Given the description of an element on the screen output the (x, y) to click on. 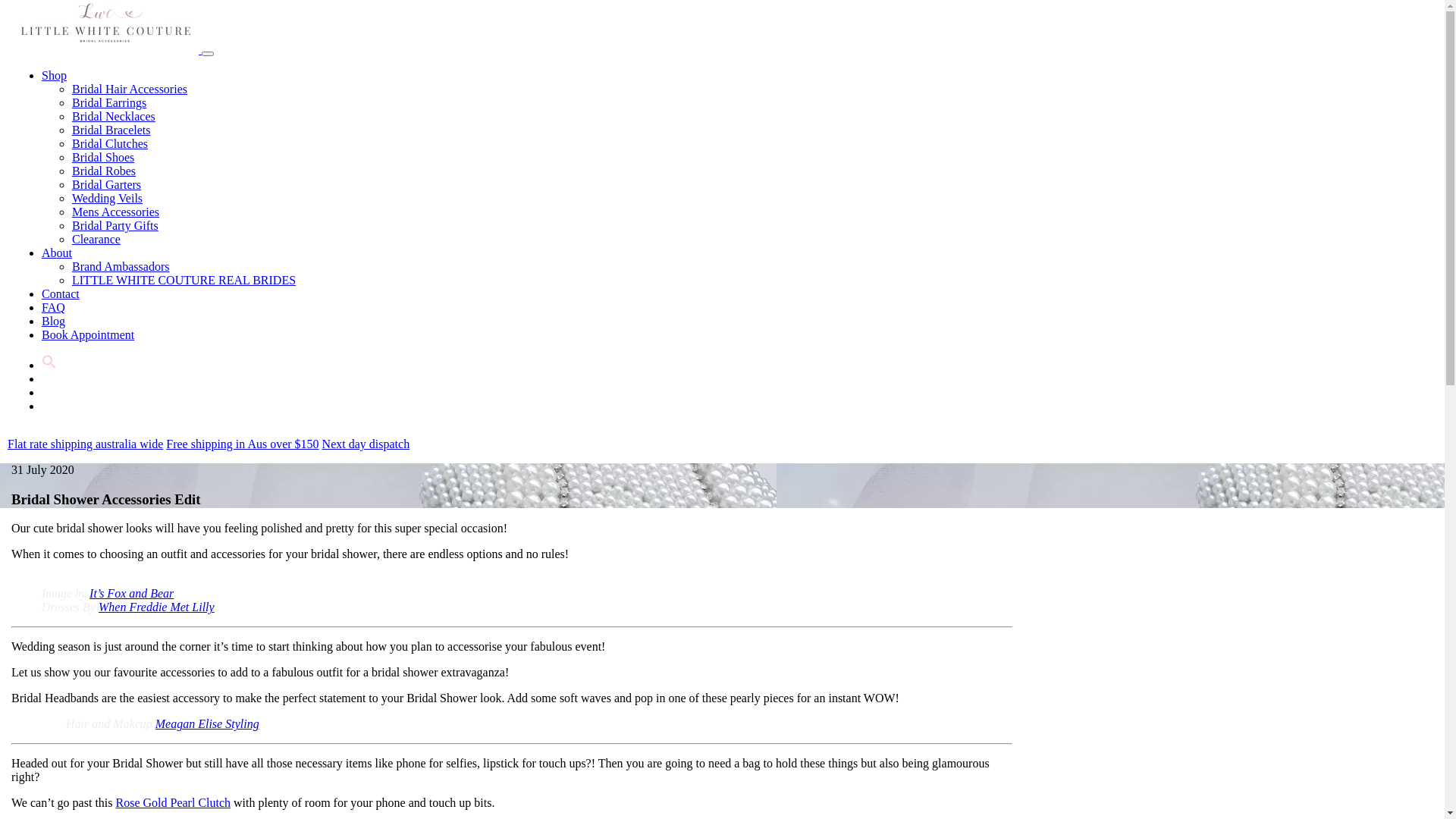
Bridal Robes Element type: text (103, 170)
FAQ Element type: text (53, 307)
Bridal Garters Element type: text (106, 184)
Blog Element type: text (53, 320)
When Freddie Met Lilly Element type: text (156, 606)
Brand Ambassadors Element type: text (120, 266)
Meagan Elise Styling Element type: text (207, 723)
Shop Element type: text (53, 75)
Bridal Necklaces Element type: text (113, 115)
Bridal Earrings Element type: text (109, 102)
Next day dispatch Element type: text (366, 443)
Rose Gold Pearl Clutch Element type: text (172, 802)
Wedding Veils Element type: text (107, 197)
Mens Accessories Element type: text (115, 211)
Bridal Hair Accessories Element type: text (129, 88)
Bridal Bracelets Element type: text (111, 129)
Free shipping in Aus over $150 Element type: text (242, 443)
Bridal Clutches Element type: text (109, 143)
Contact Element type: text (60, 293)
Clearance Element type: text (96, 238)
LITTLE WHITE COUTURE REAL BRIDES Element type: text (183, 279)
Bridal Party Gifts Element type: text (115, 225)
About Element type: text (56, 252)
Book Appointment Element type: text (87, 334)
Bridal Shoes Element type: text (103, 156)
Flat rate shipping australia wide Element type: text (85, 443)
